Given the description of an element on the screen output the (x, y) to click on. 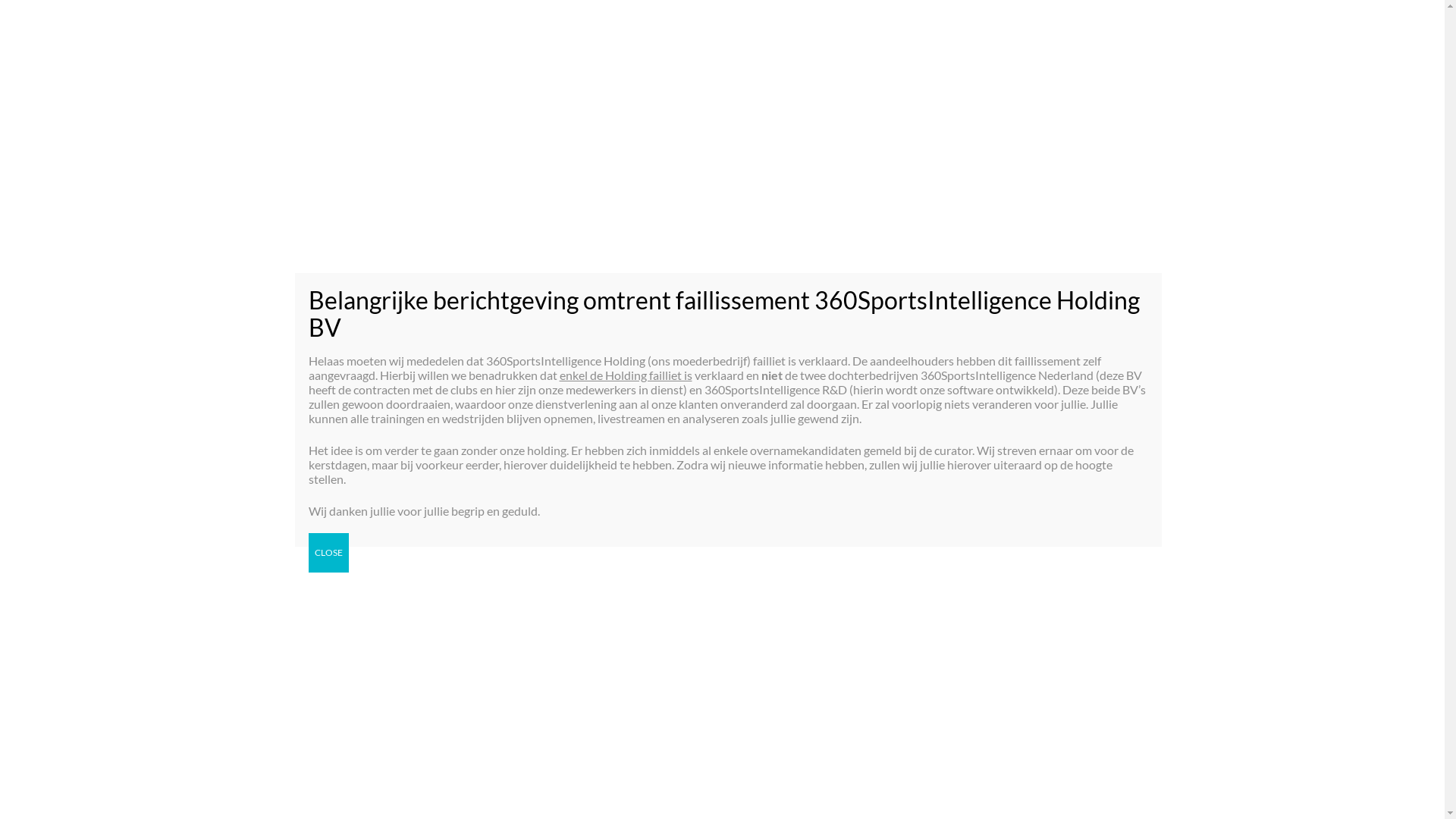
Nederlands Element type: hover (1384, 64)
SPORTEN Element type: text (963, 189)
CLOSE Element type: text (327, 551)
VIDEOANALYSE Element type: text (1062, 189)
LOGIN Element type: text (1365, 189)
WERKEN BIJ 360SI Element type: text (1152, 67)
PRODUCTEN Element type: text (1170, 189)
OVER 360SI Element type: text (996, 67)
CONTACT Element type: text (1325, 66)
ONZE PARTNERS Element type: text (1242, 67)
SUPPORT Element type: text (1273, 189)
Abonneer op de nieuwsbrief Element type: text (727, 508)
PRIVACY / AVG Element type: text (1067, 67)
Search Element type: text (1137, 738)
